Given the description of an element on the screen output the (x, y) to click on. 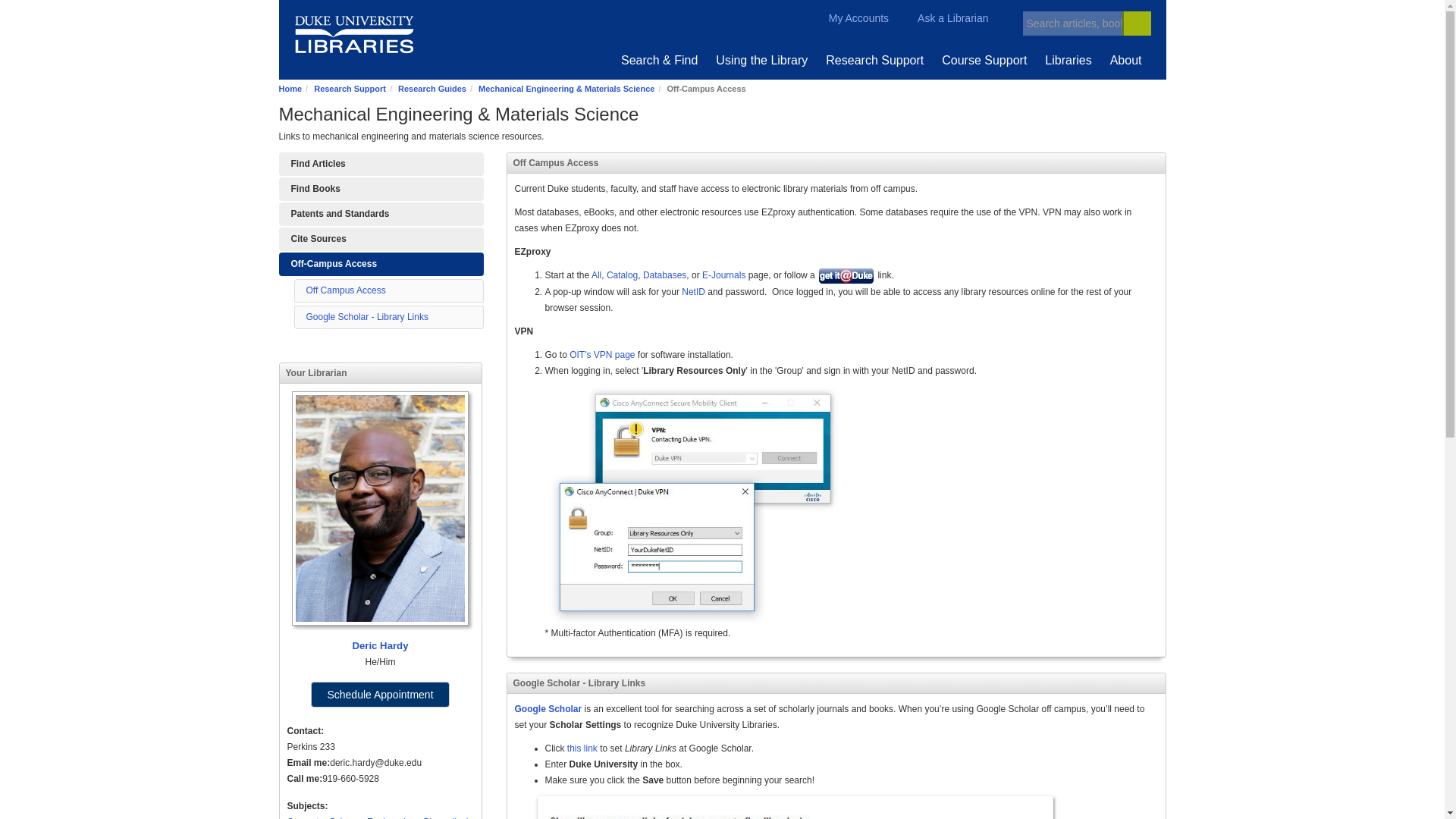
Ask a Librarian (943, 18)
NetID (692, 291)
Using the Library (762, 60)
e-journals (723, 275)
My Accounts (849, 18)
